Given the description of an element on the screen output the (x, y) to click on. 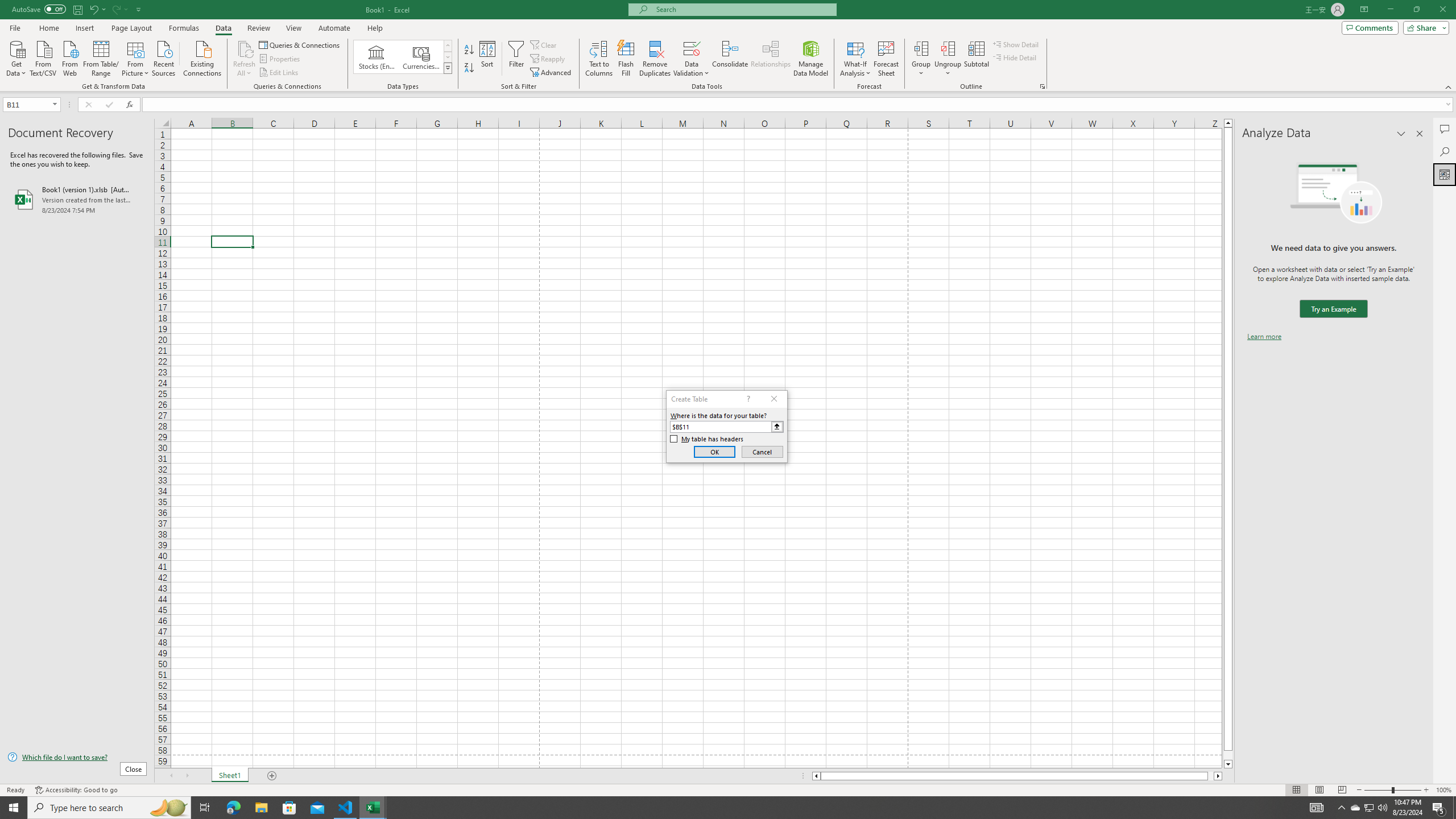
Help (374, 28)
Data Types (448, 67)
Redo (115, 9)
Comments (1369, 27)
Save (77, 9)
Line up (1228, 122)
Group... (921, 58)
Stocks (English) (375, 56)
From Table/Range (100, 57)
Row up (448, 45)
Automate (334, 28)
Get Data (16, 57)
Page down (1228, 755)
Sort... (487, 58)
Filter (515, 58)
